Given the description of an element on the screen output the (x, y) to click on. 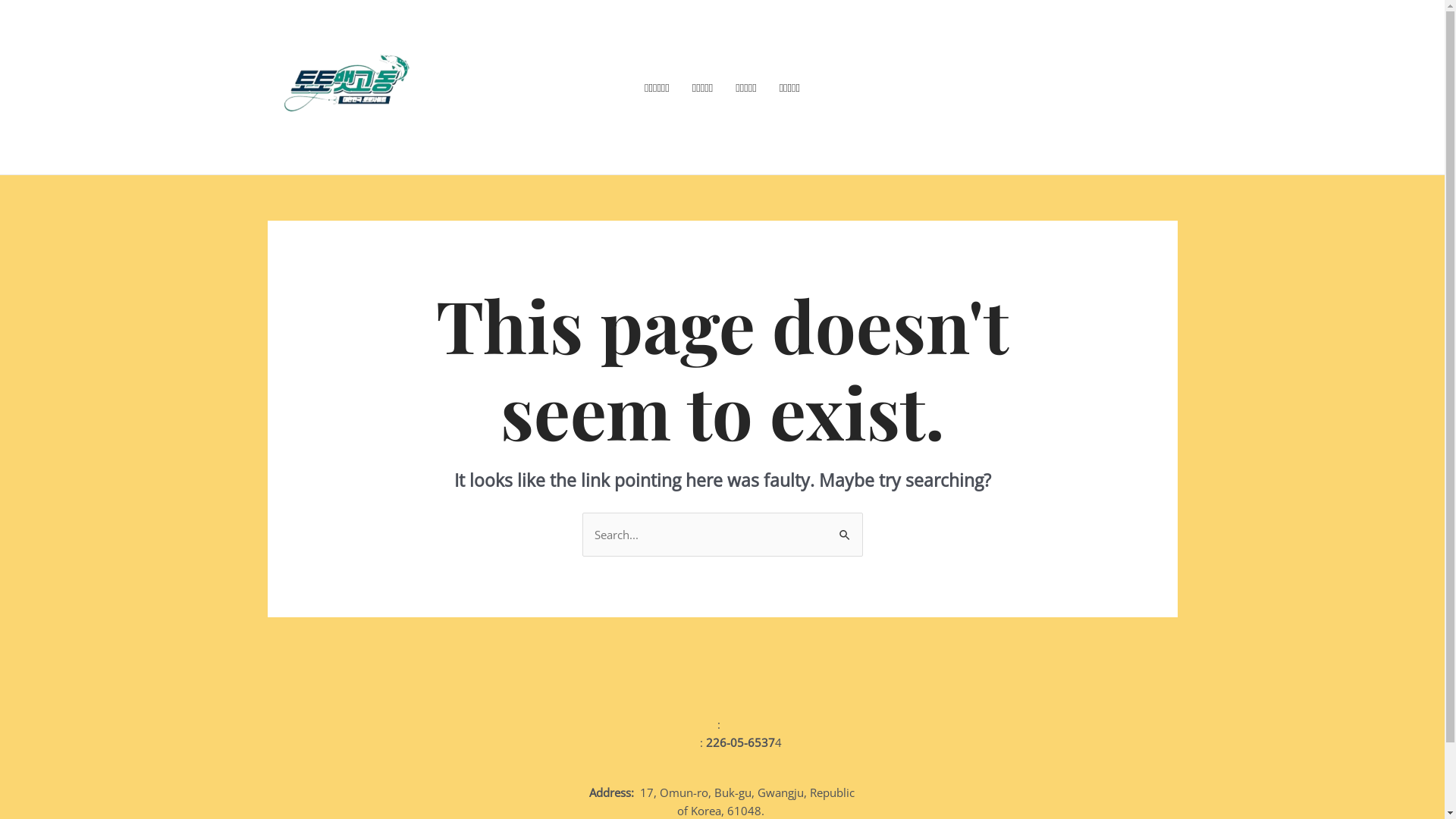
Search Element type: text (845, 527)
